Given the description of an element on the screen output the (x, y) to click on. 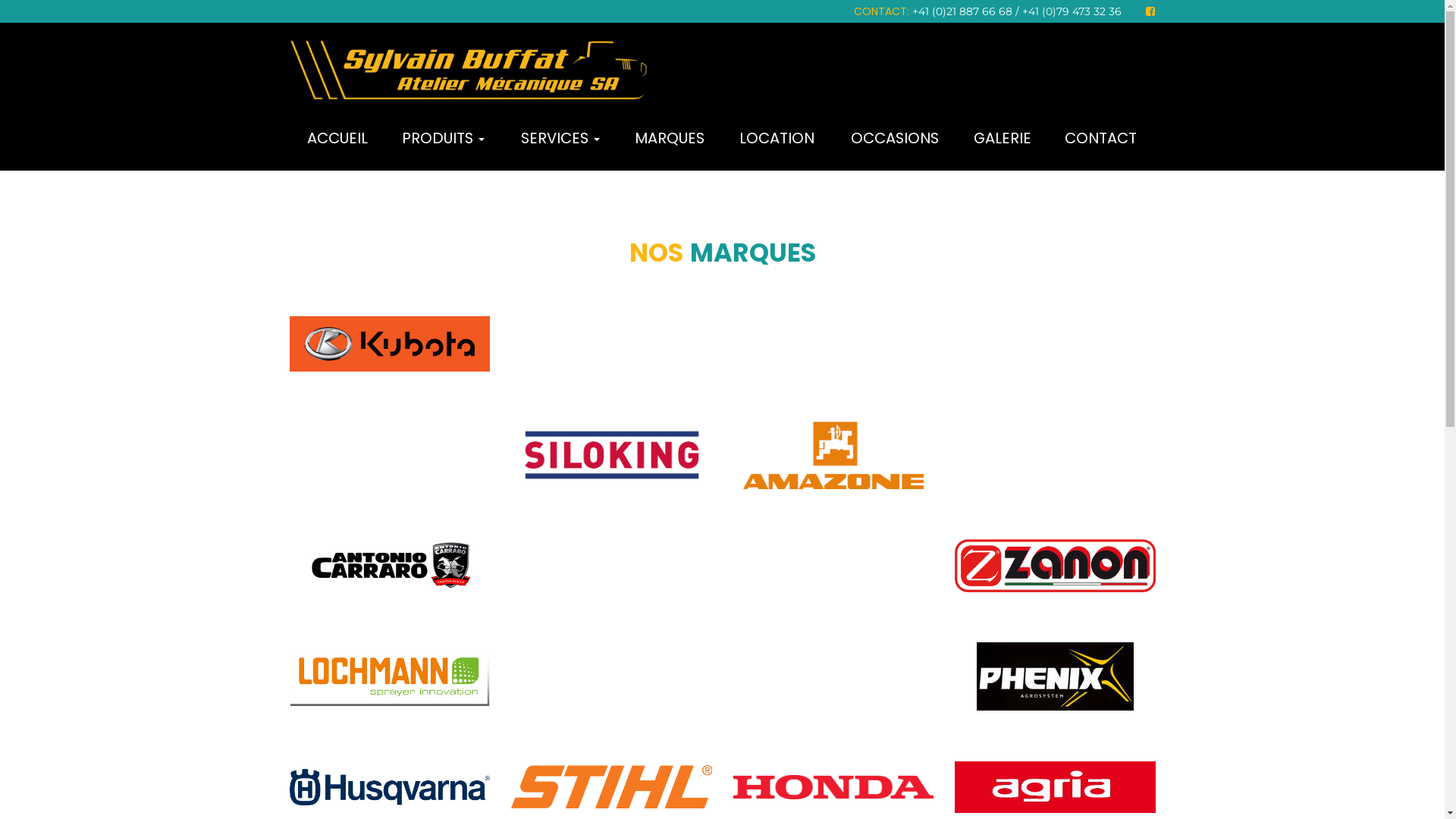
OCCASIONS Element type: text (894, 142)
Facebook Element type: hover (1149, 11)
GALERIE Element type: text (1002, 142)
MARQUES Element type: text (669, 142)
CONTACT Element type: text (1101, 142)
SERVICES Element type: text (559, 142)
ACCUEIL Element type: text (336, 142)
PRODUITS Element type: text (443, 142)
LOCATION Element type: text (776, 142)
